Given the description of an element on the screen output the (x, y) to click on. 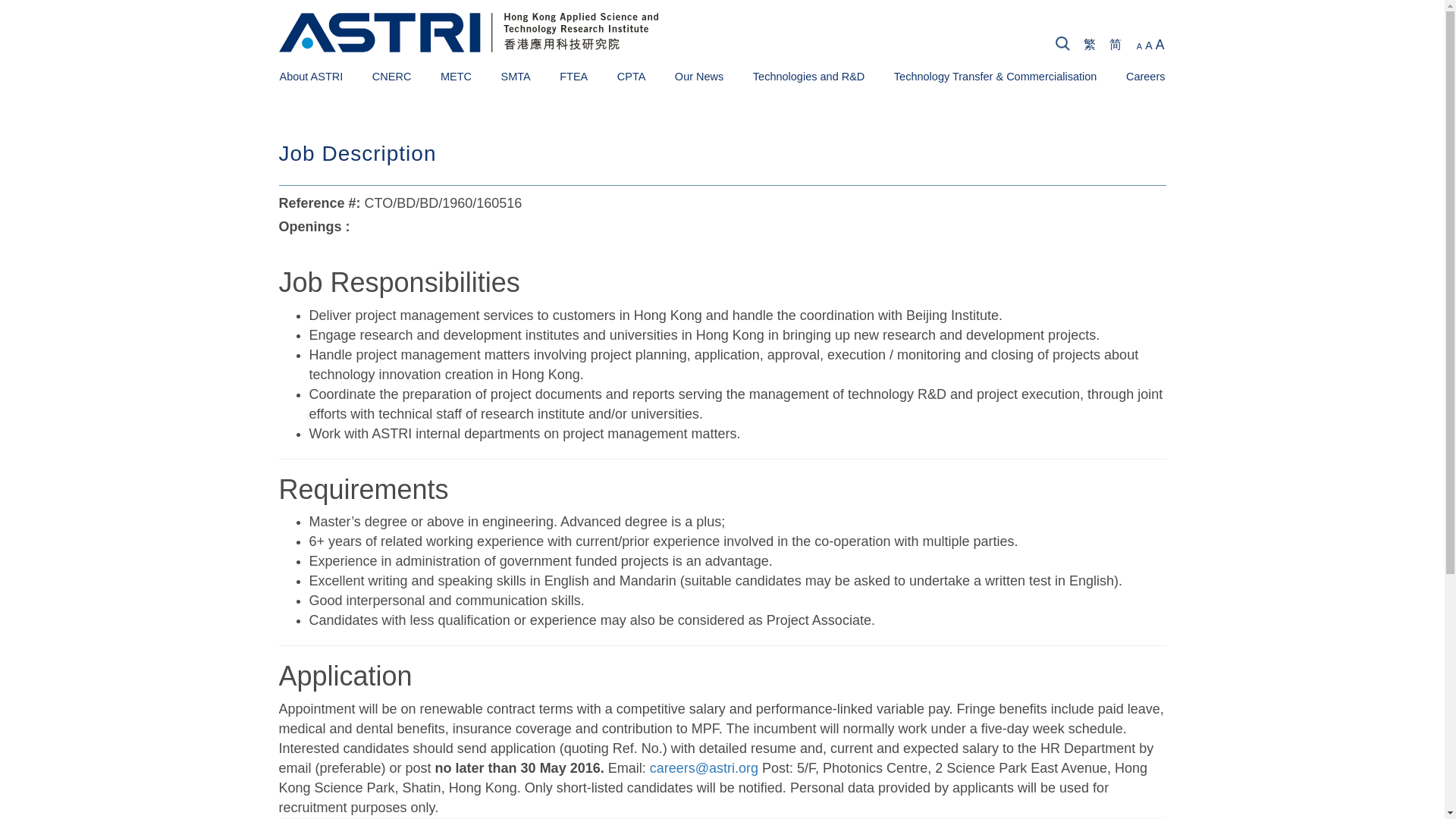
METC (456, 76)
A (1138, 45)
CPTA (631, 76)
Our News (699, 76)
CNERC (392, 76)
Search (1348, 45)
SMTA (514, 76)
About ASTRI (310, 76)
FTEA (573, 76)
